Given the description of an element on the screen output the (x, y) to click on. 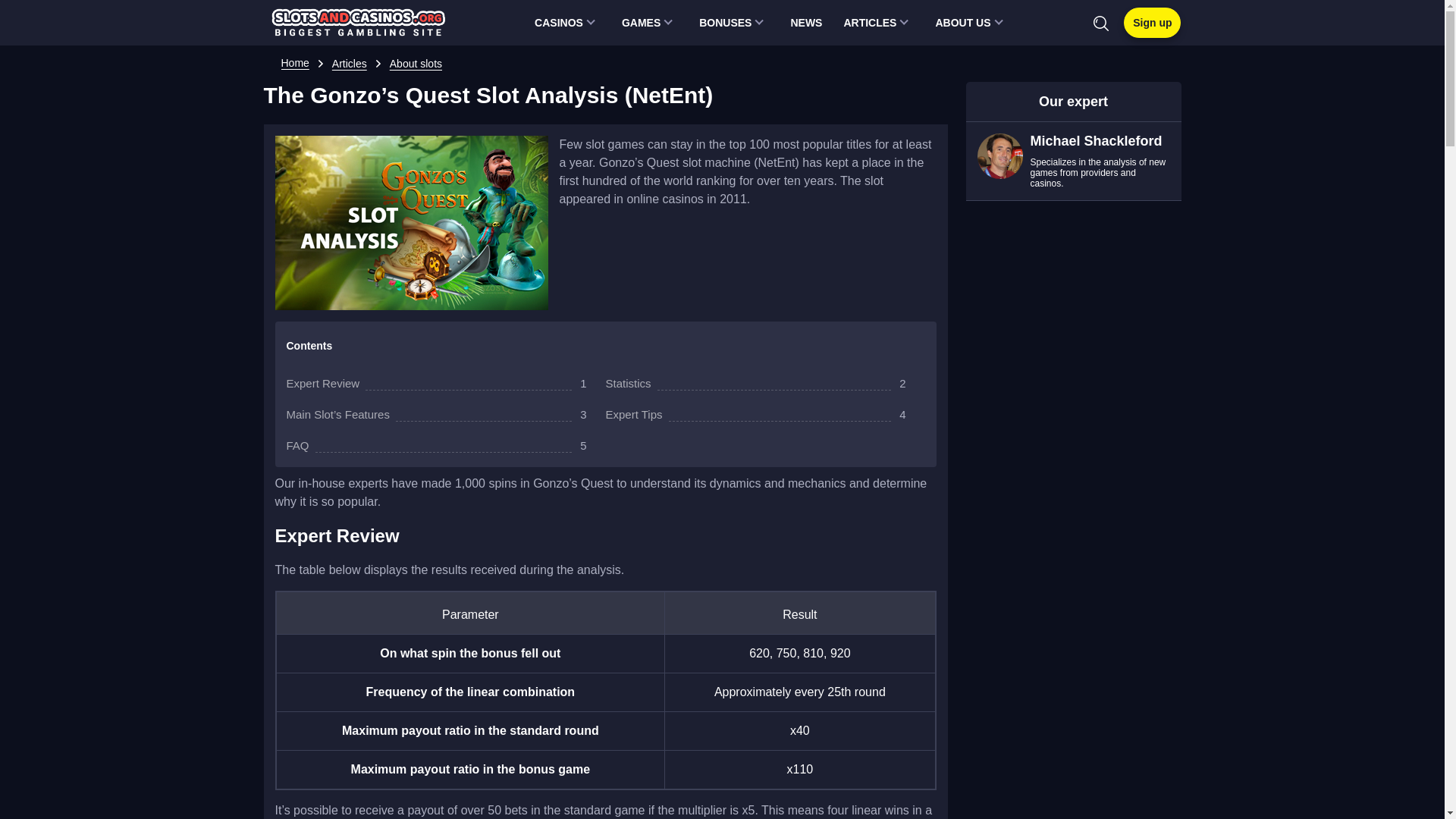
CASINOS (567, 22)
